Given the description of an element on the screen output the (x, y) to click on. 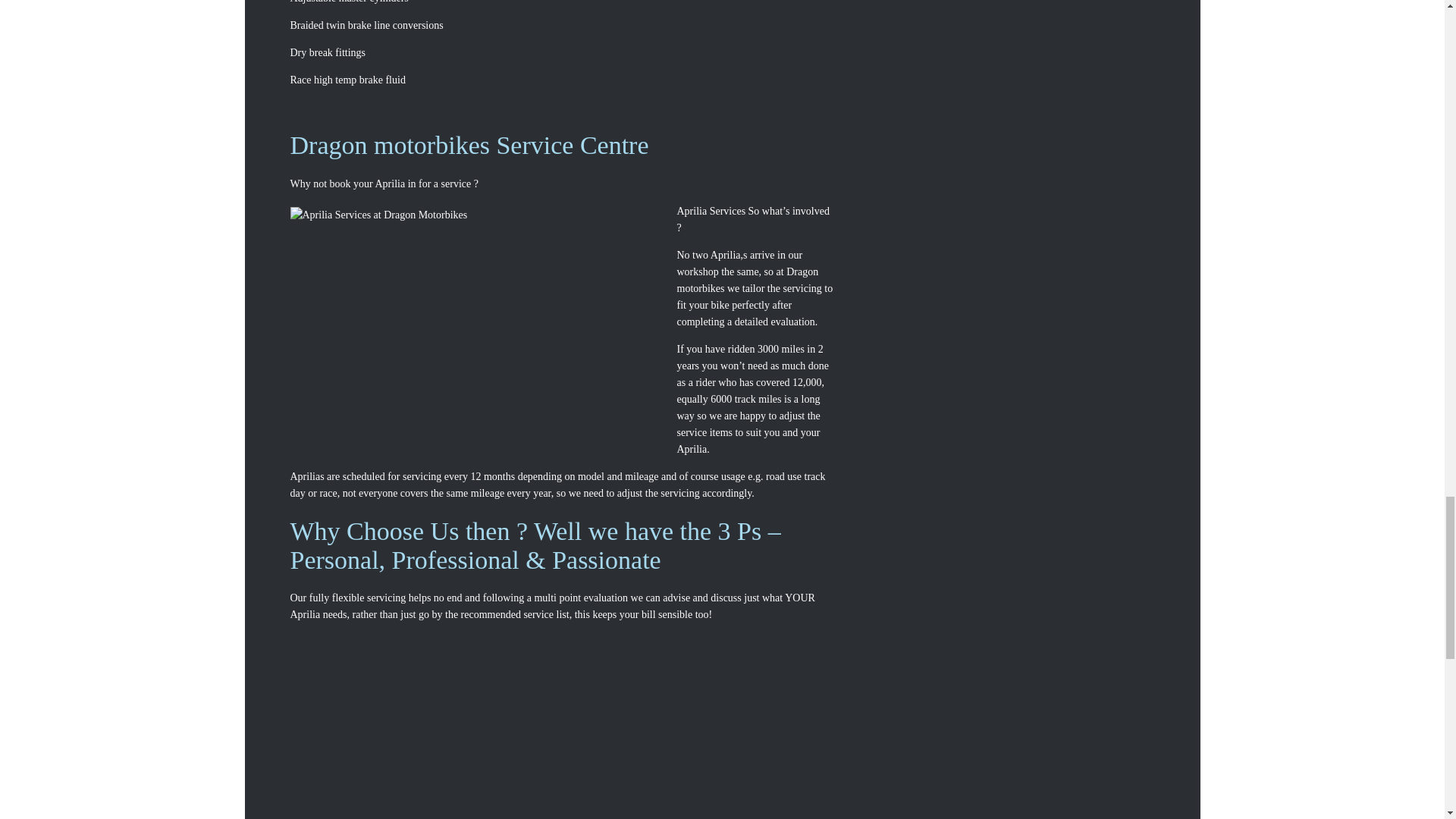
Aprilia Services  (478, 325)
